Given the description of an element on the screen output the (x, y) to click on. 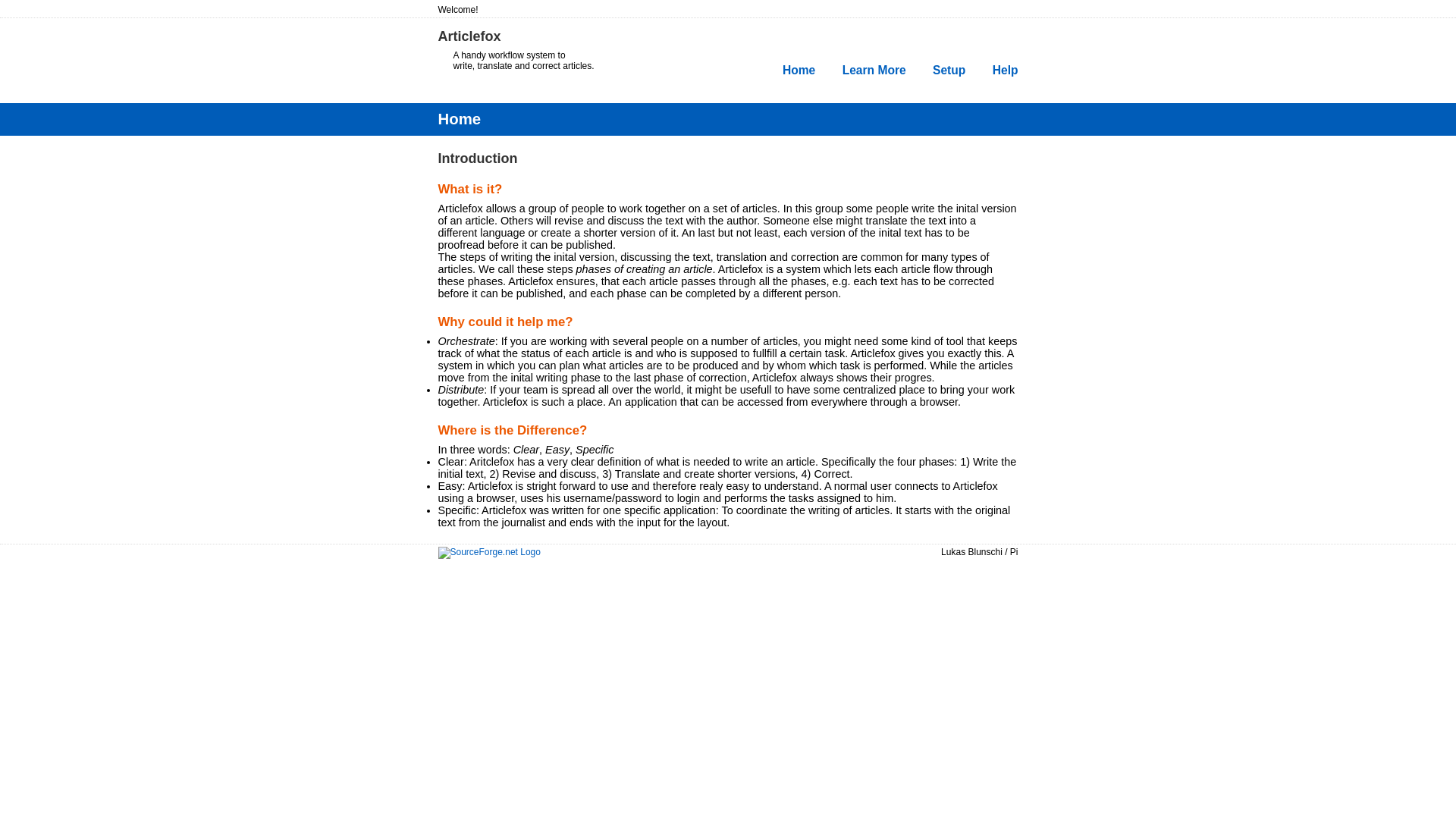
Learn More Element type: text (874, 69)
Help Element type: text (1005, 69)
Setup Element type: text (948, 69)
Home Element type: text (798, 69)
